Given the description of an element on the screen output the (x, y) to click on. 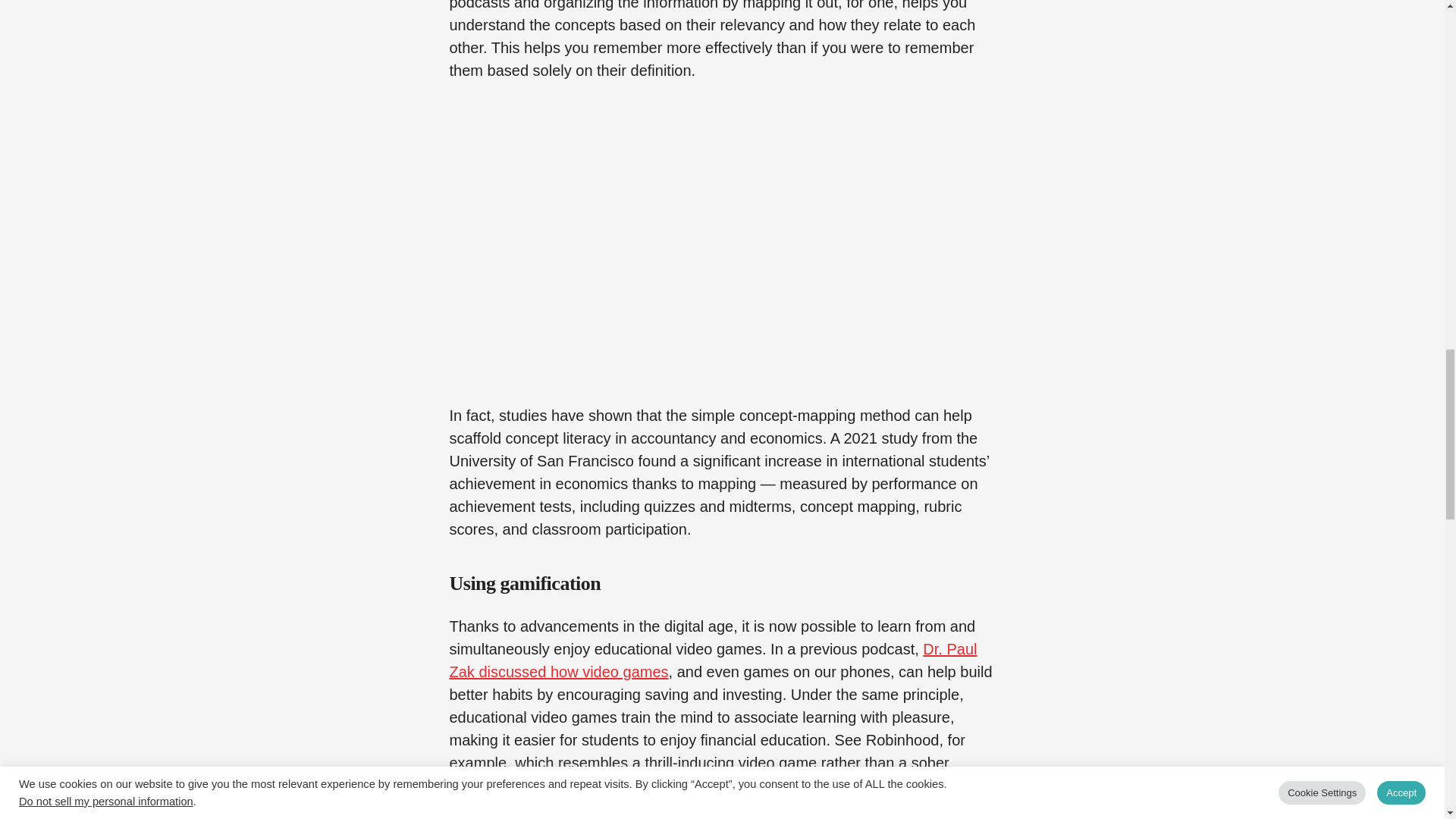
Dr. Paul Zak discussed how video games (712, 660)
